Given the description of an element on the screen output the (x, y) to click on. 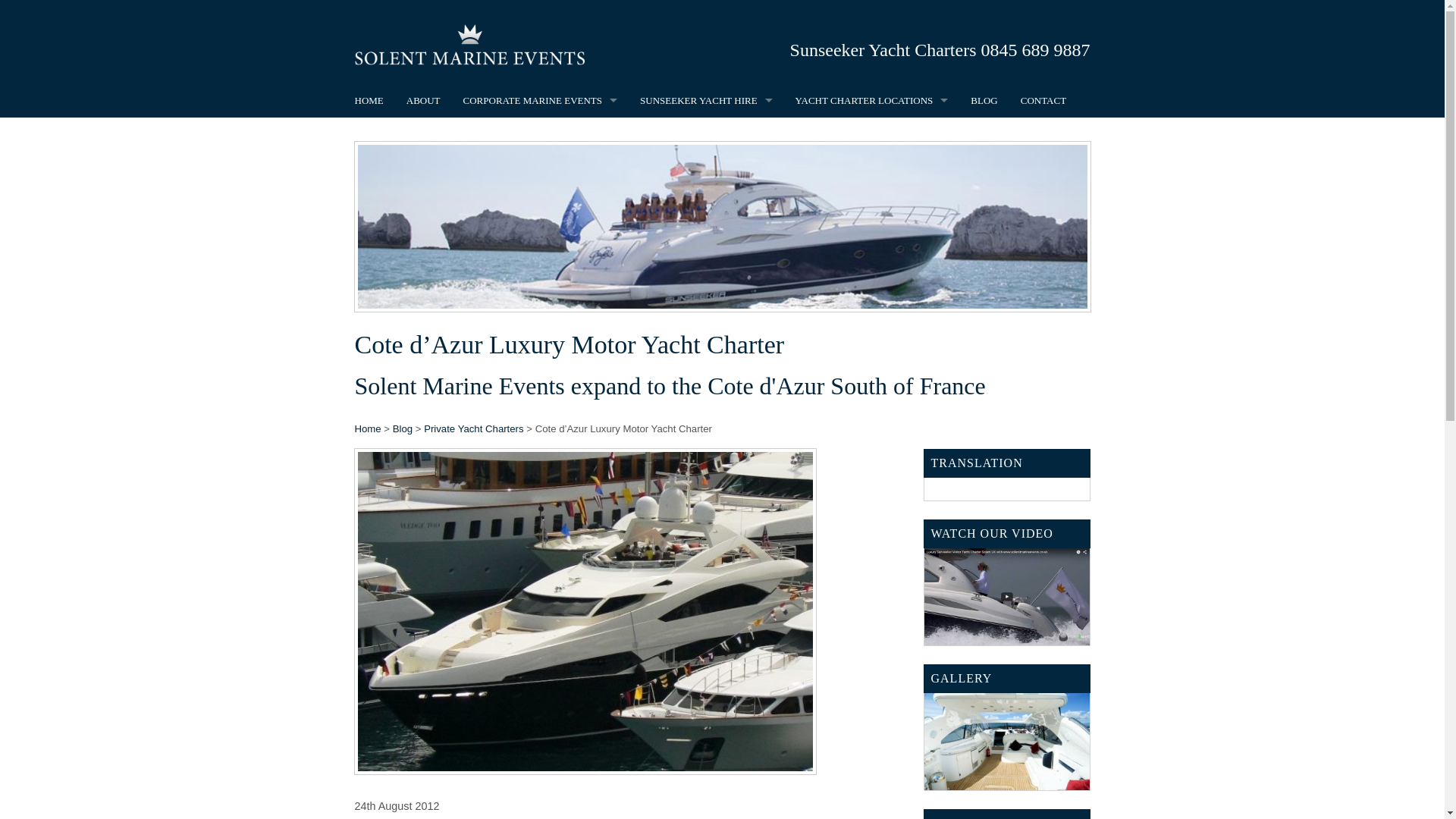
Blog (402, 428)
HOME (368, 100)
ABOUT (422, 100)
WATCH OUR VIDEO (1006, 582)
PRIVATE BOAT PARTIES (706, 134)
Private Yacht Charters (472, 428)
SUNSEEKER YACHT HIRE (706, 100)
CORPORATE TEAM BUILDING (539, 202)
YACHT CHARTER LOCATIONS (871, 100)
SOUTHAMPTON (871, 134)
